Given the description of an element on the screen output the (x, y) to click on. 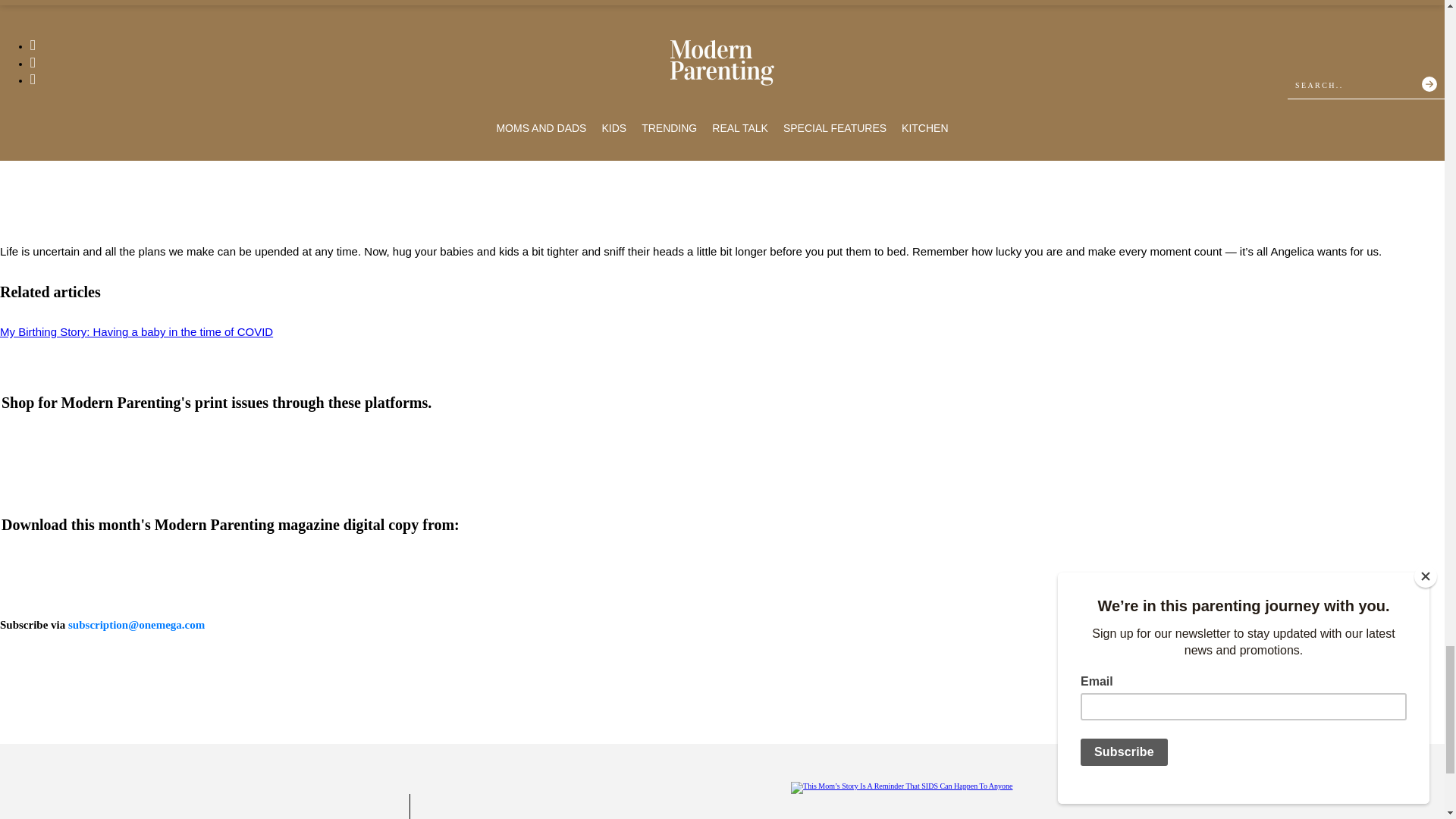
Subscribe now! (136, 624)
My Birthing Story: Having a baby in the time of COVID (136, 331)
